Given the description of an element on the screen output the (x, y) to click on. 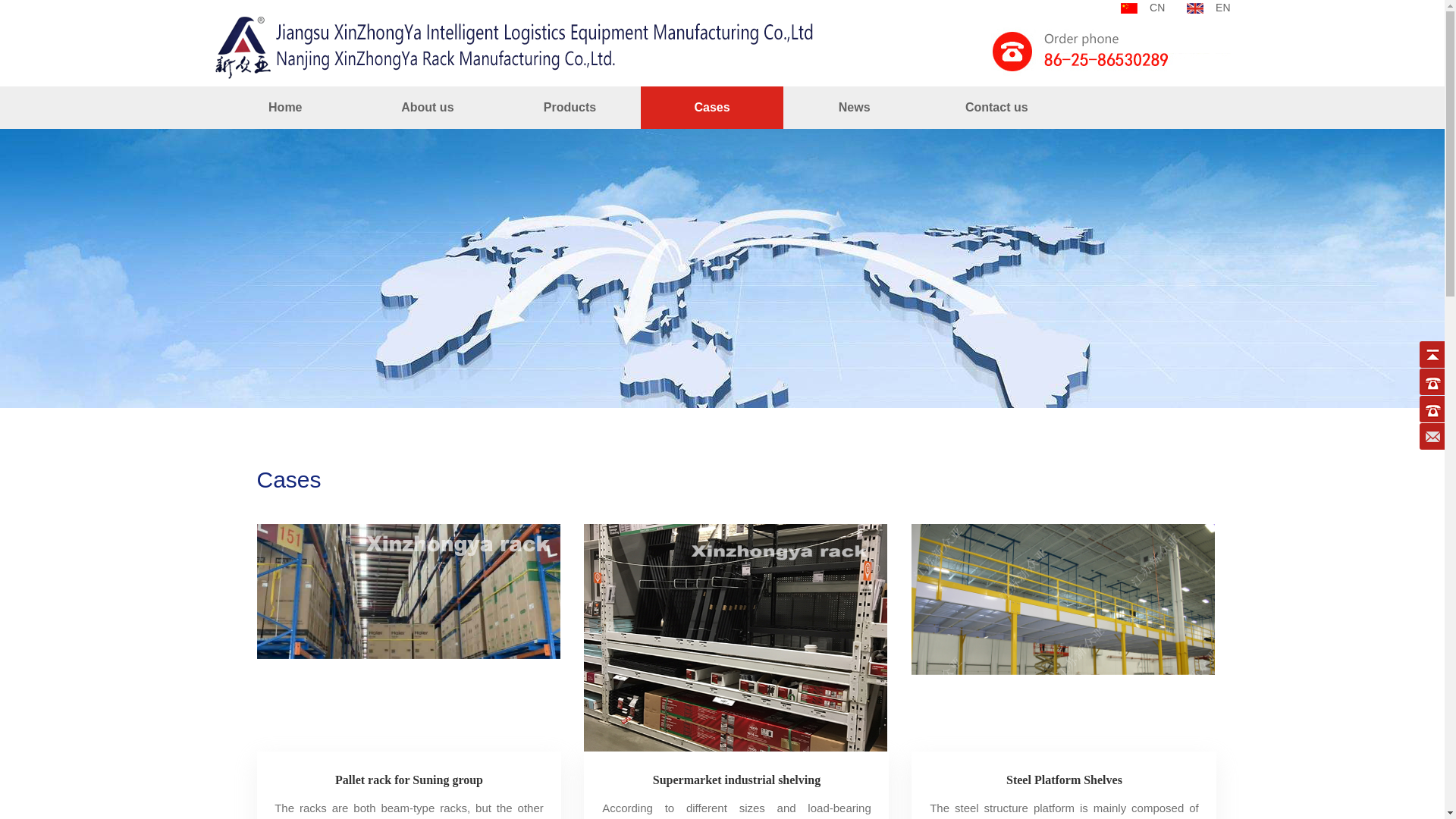
Contact us (995, 107)
Cases (711, 107)
CN (1142, 7)
Cases (711, 107)
Contact us (995, 107)
About us (427, 107)
Home (285, 107)
EN (1208, 7)
About us (427, 107)
